Given the description of an element on the screen output the (x, y) to click on. 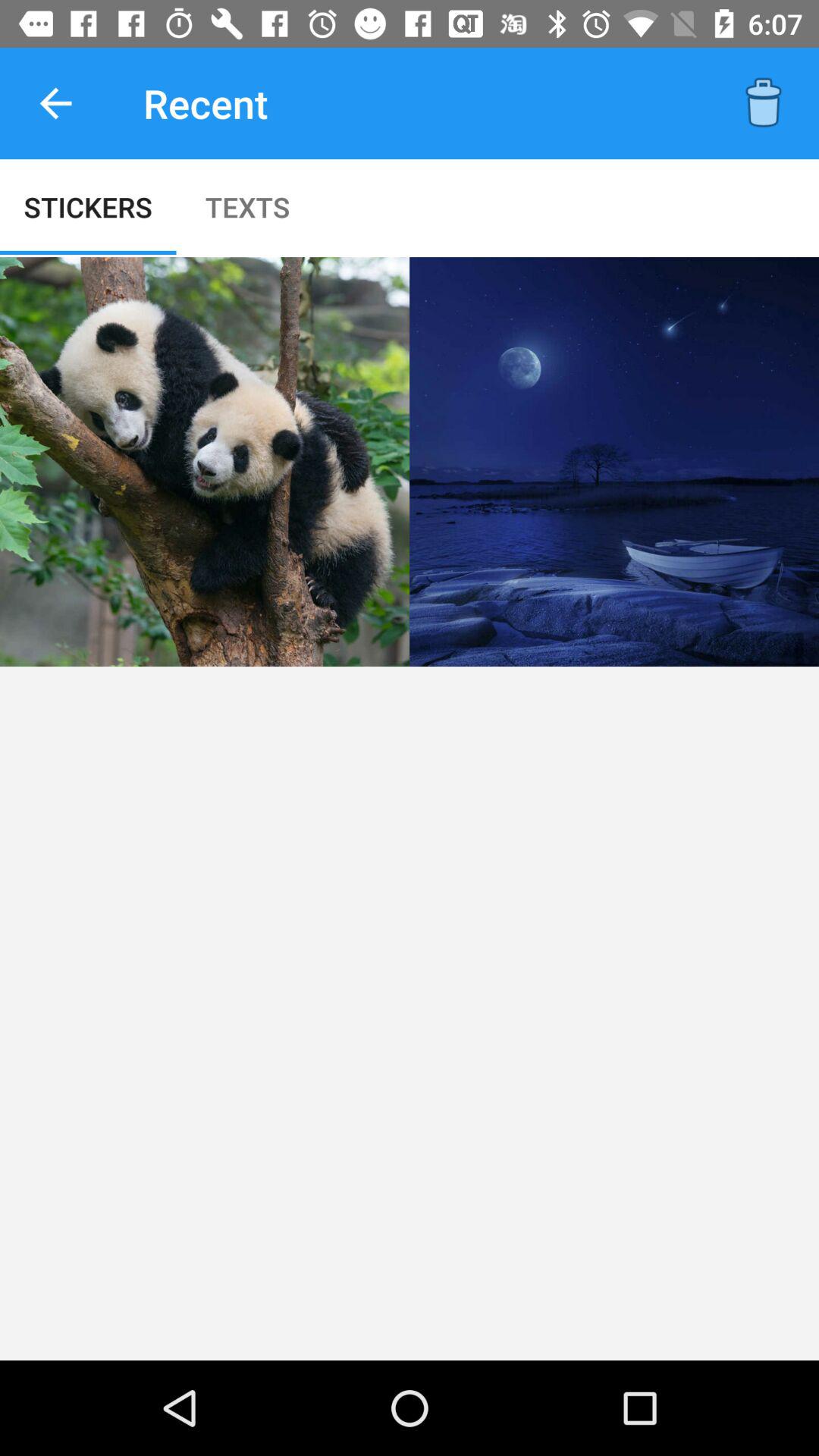
tap the icon above the stickers (55, 103)
